Given the description of an element on the screen output the (x, y) to click on. 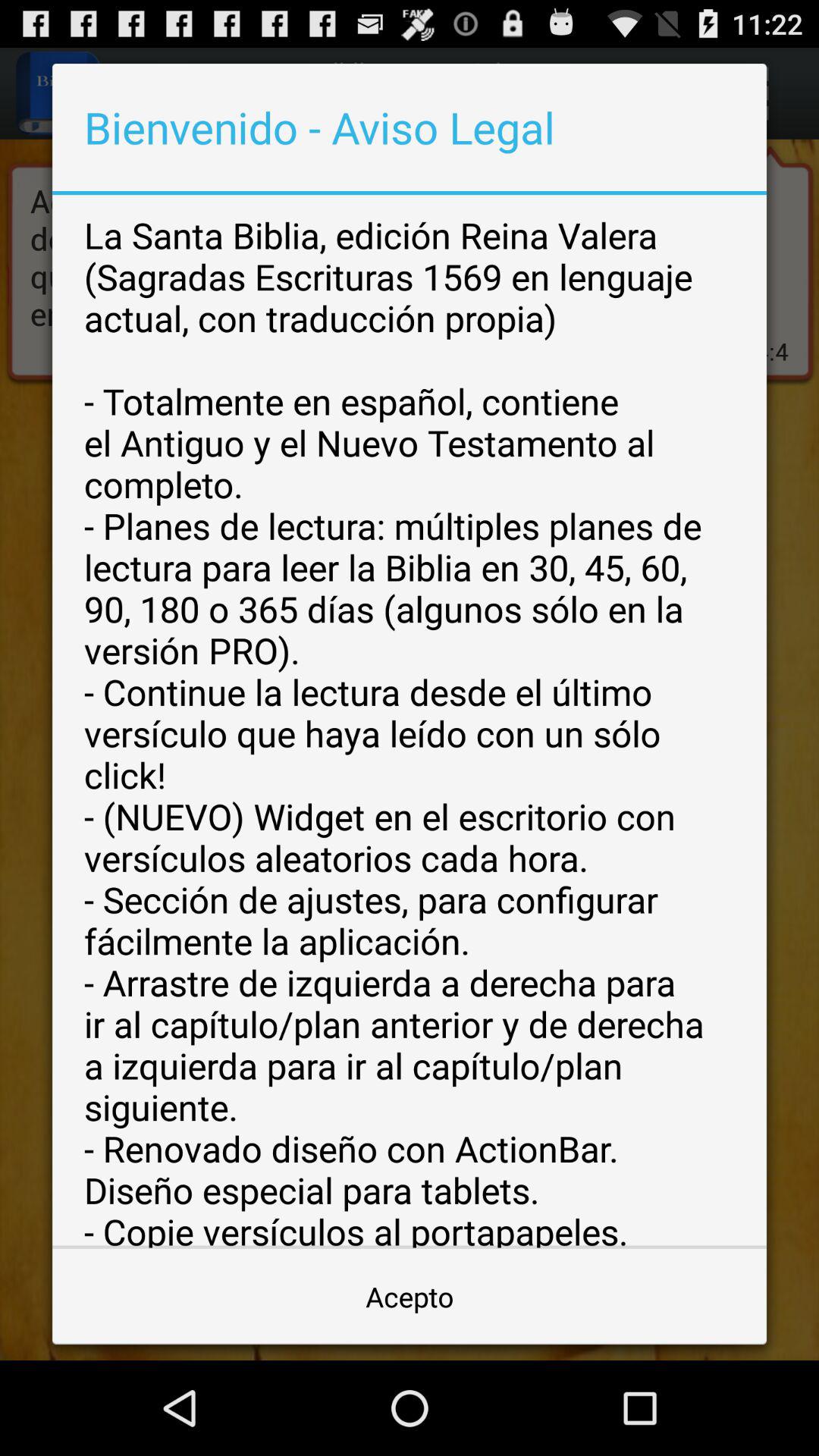
jump to the acepto button (409, 1296)
